Given the description of an element on the screen output the (x, y) to click on. 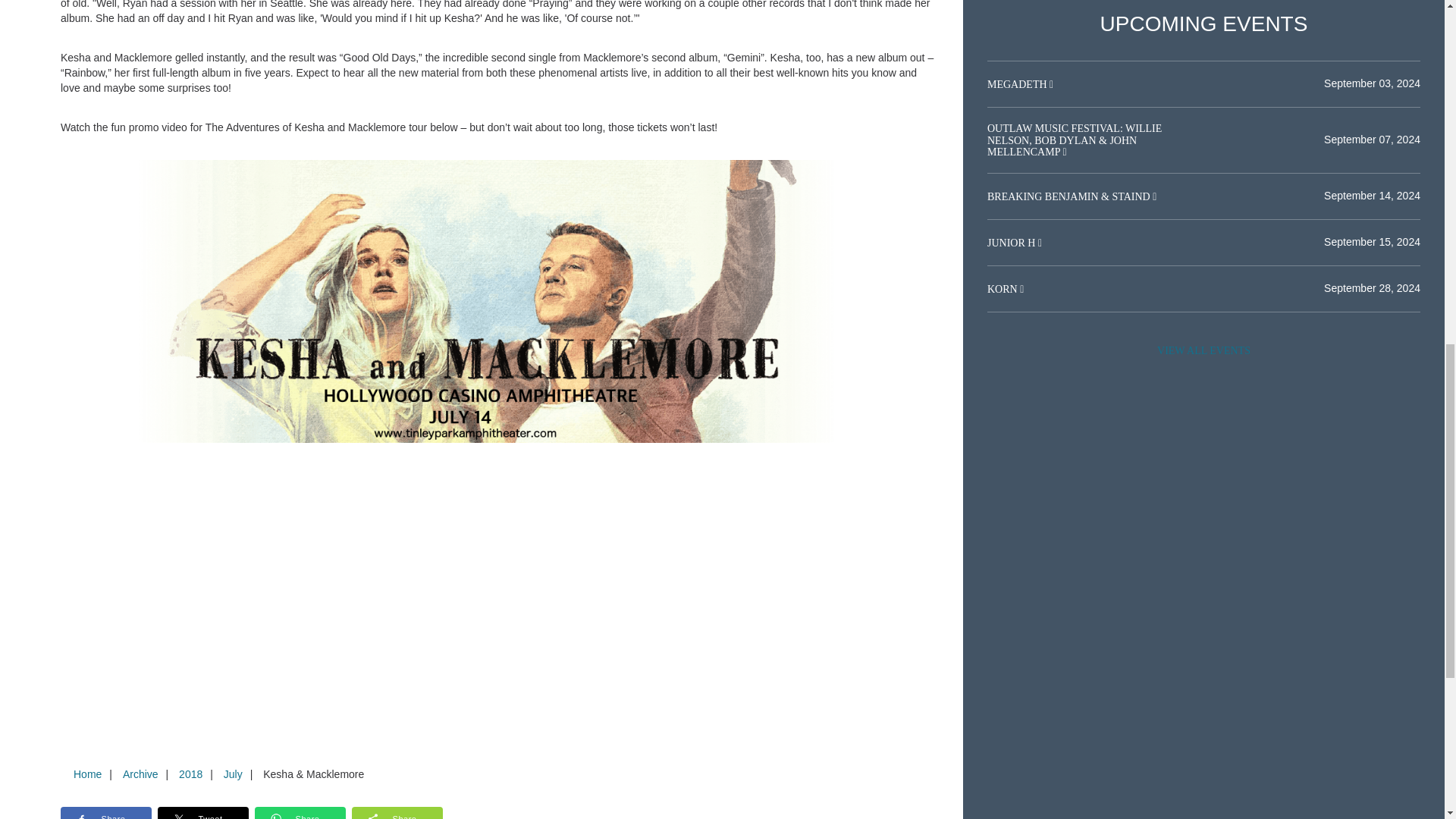
MEGADETH (1018, 84)
JUNIOR H (1012, 242)
2018 (190, 774)
VIEW ALL EVENTS (1203, 350)
July (232, 774)
Home (87, 774)
Archive (140, 774)
KORN (1003, 288)
